Given the description of an element on the screen output the (x, y) to click on. 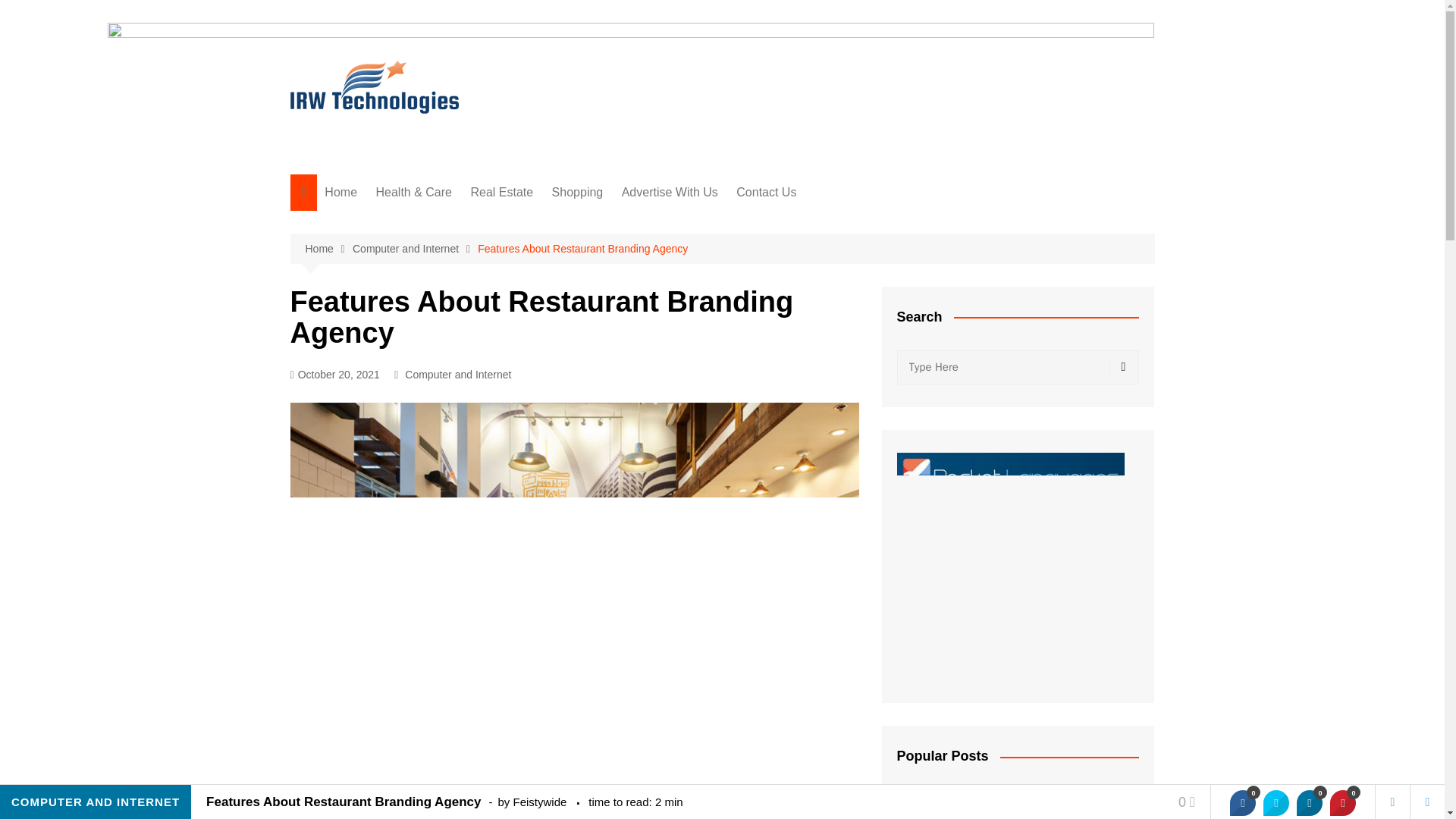
Share on Facebook (1242, 802)
Share on Pinterest (1342, 802)
Shopping (577, 192)
Real Estate (501, 192)
Share on Twitter (1275, 802)
October 20, 2021 (333, 375)
Computer and Internet (457, 374)
Features About Restaurant Branding Agency (582, 248)
Share on Linkedin (1309, 802)
Home (328, 248)
Computer and Internet (414, 248)
Advertise With Us (669, 192)
Contact Us (766, 192)
Home (341, 192)
